Given the description of an element on the screen output the (x, y) to click on. 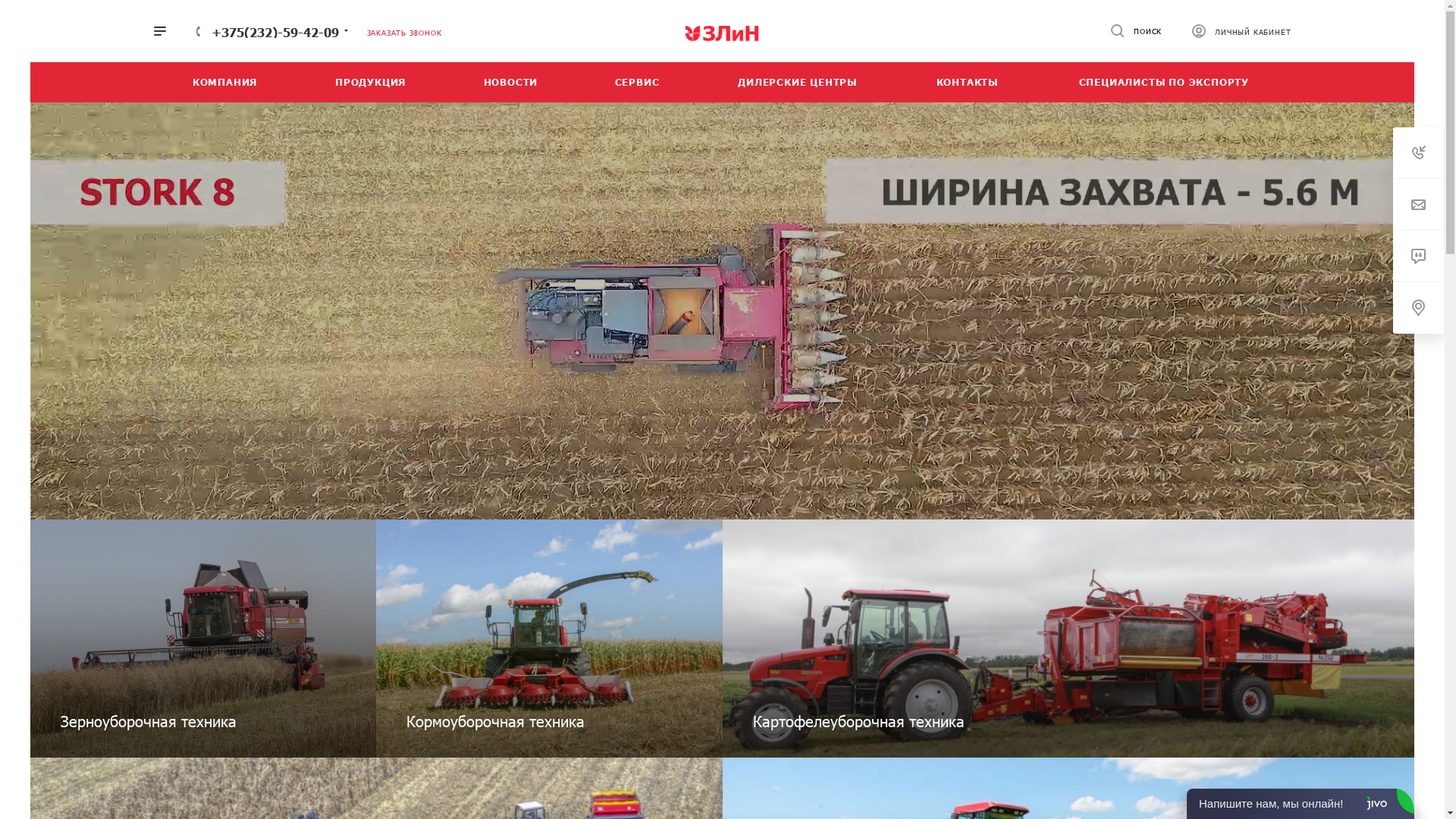
+375(232)-59-42-09 Element type: text (274, 31)
